Given the description of an element on the screen output the (x, y) to click on. 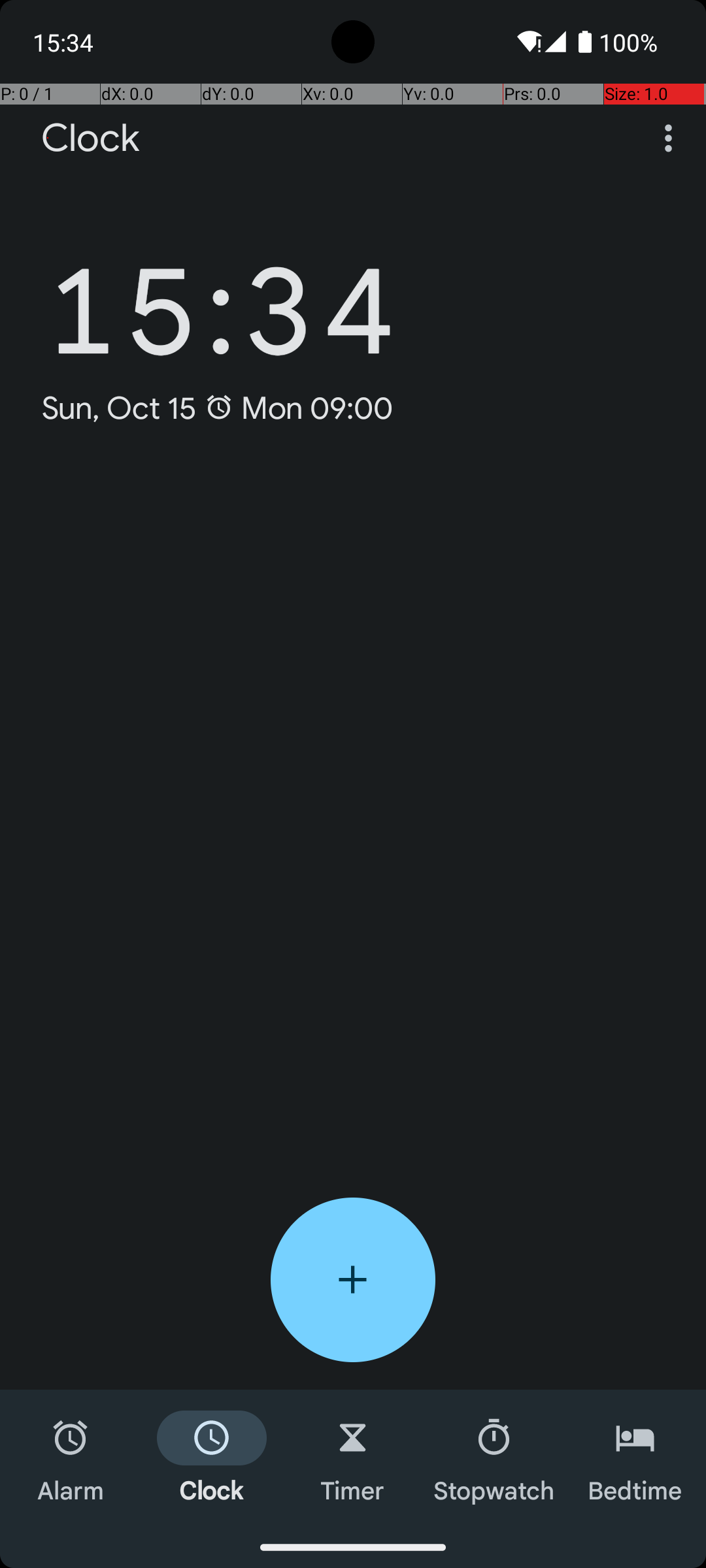
Sun, Oct 15 A Mon 09:00 Element type: android.widget.TextView (216, 407)
